Given the description of an element on the screen output the (x, y) to click on. 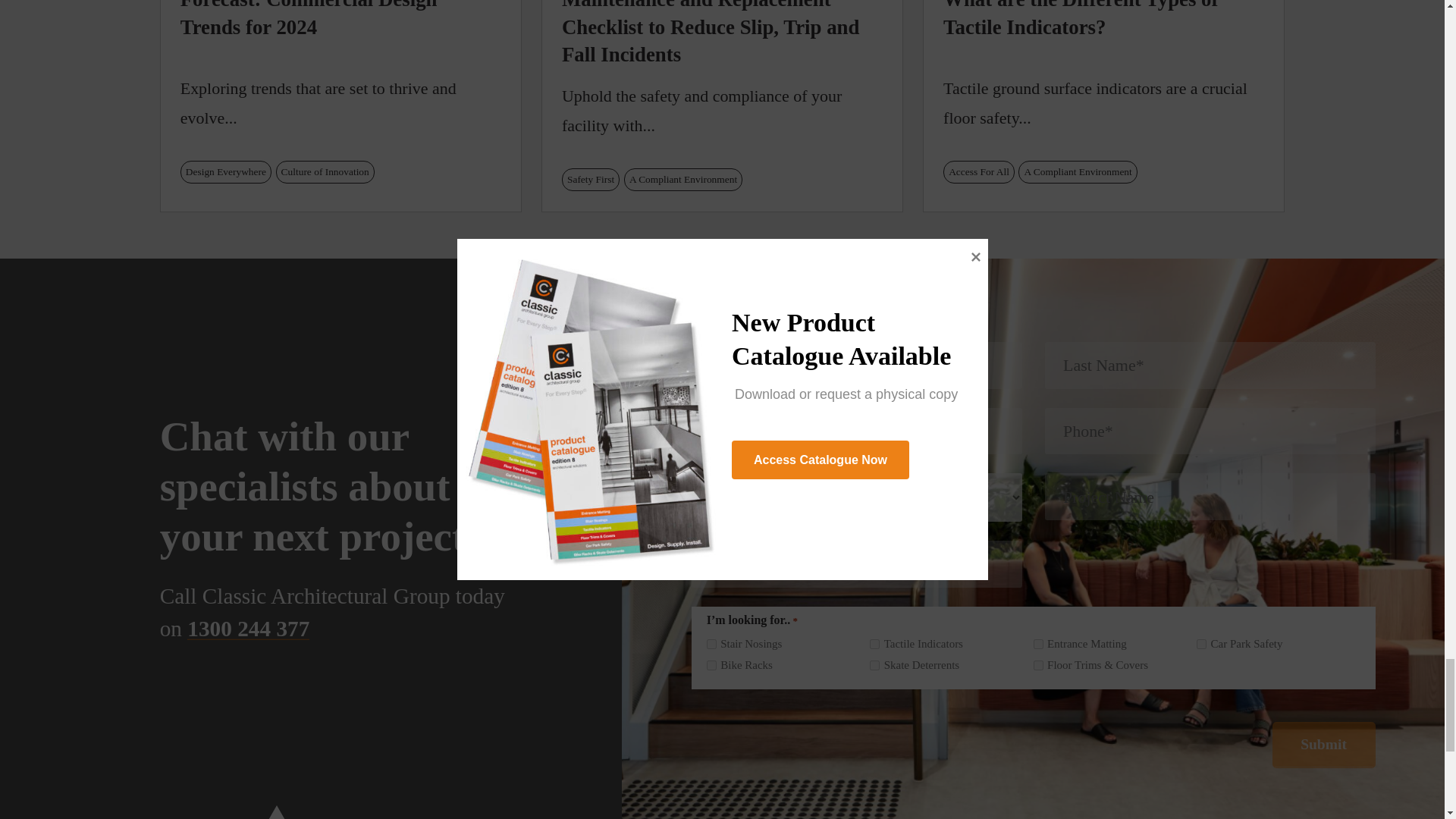
Car Park Safety (1201, 644)
Entrance Matting (1038, 644)
Skate Deterrents (874, 665)
Bike Racks (711, 665)
Submit (1323, 744)
Stair Nosings (711, 644)
Tactile Indicators (874, 644)
